Given the description of an element on the screen output the (x, y) to click on. 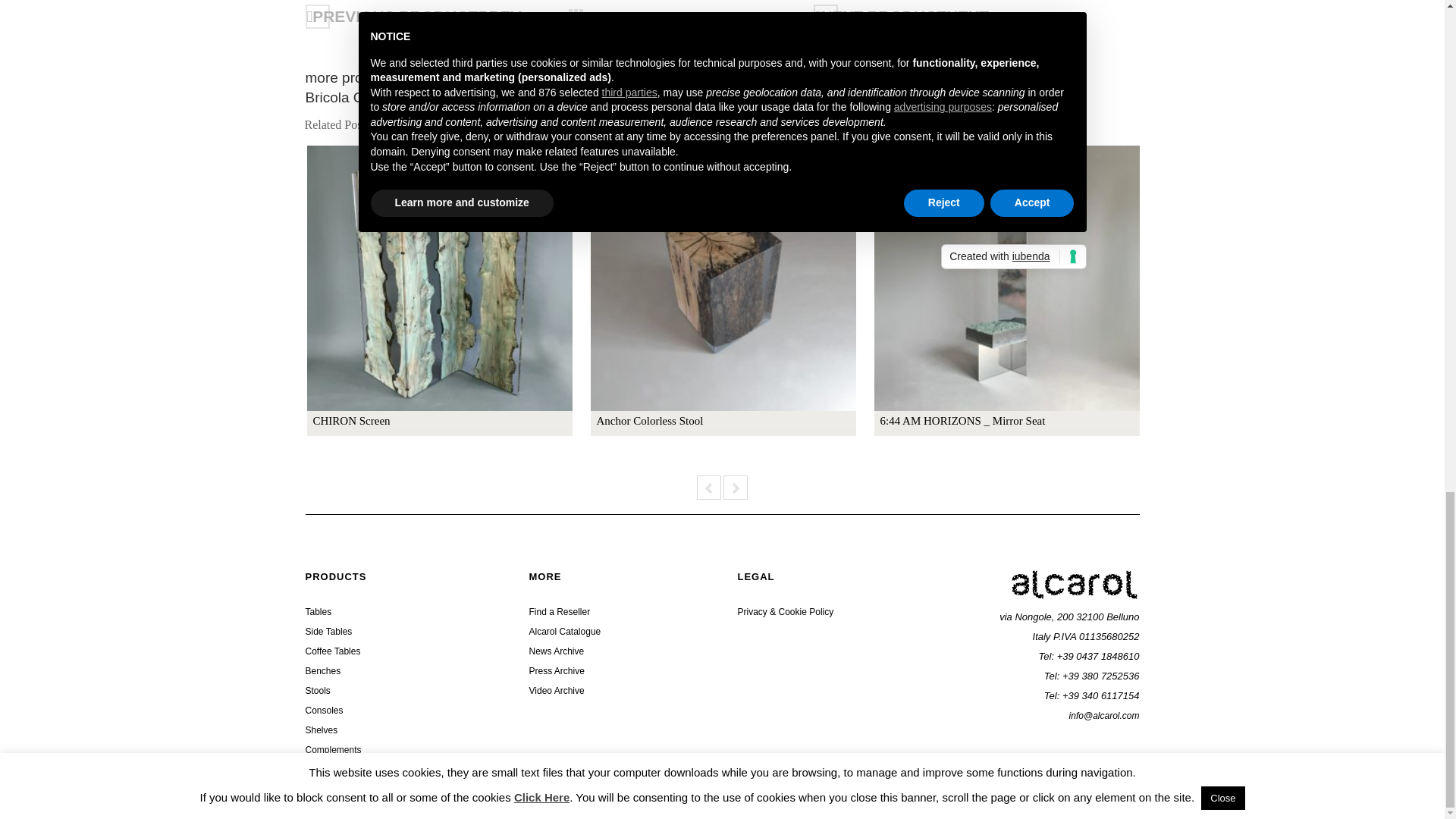
Alcarol tables (317, 611)
Alcarol shelfs (320, 729)
Alcarol consoles (323, 710)
Alcarol side tables (328, 631)
Alcarol Benches (322, 670)
Alcarol stools (317, 690)
Alcarol Coffee Tables (331, 651)
